Given the description of an element on the screen output the (x, y) to click on. 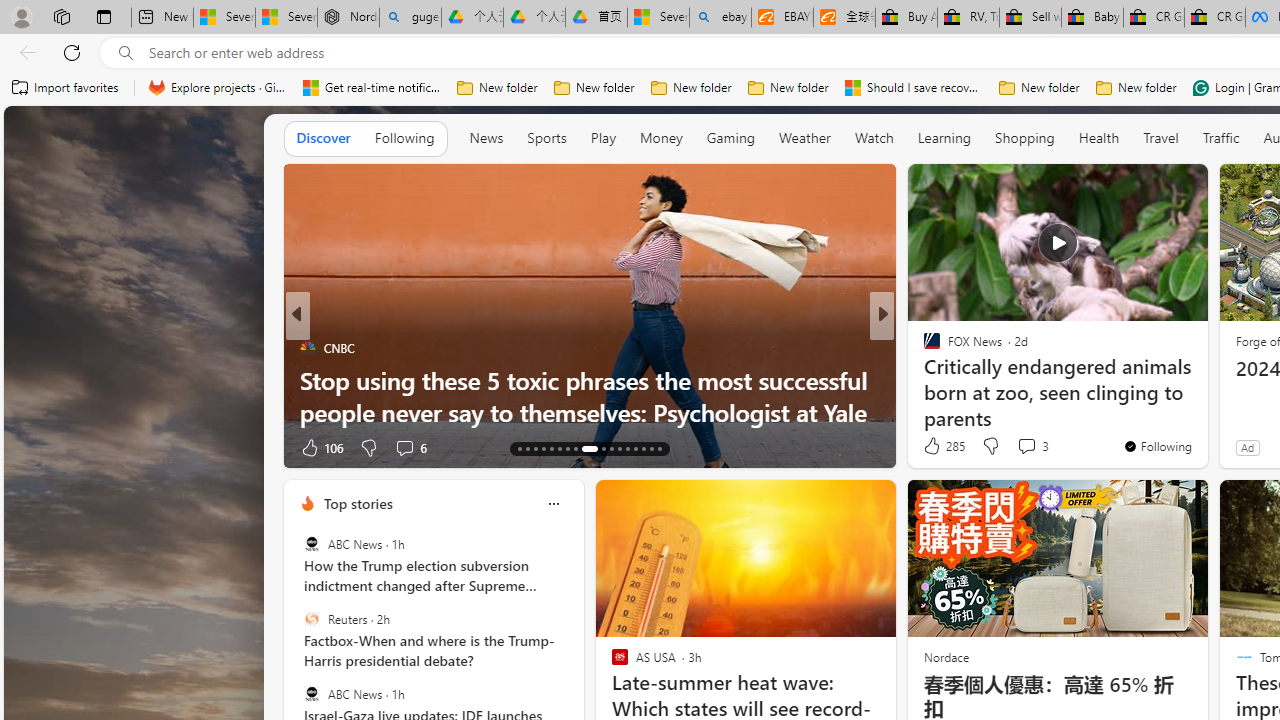
Should I save recovered Word documents? - Microsoft Support (913, 88)
How to Wipe a Dell Laptop (589, 411)
AutomationID: tab-22 (597, 448)
Import favorites (65, 88)
Animals Around The Globe (US) (923, 380)
AutomationID: tab-39 (635, 448)
42 Like (934, 447)
